Given the description of an element on the screen output the (x, y) to click on. 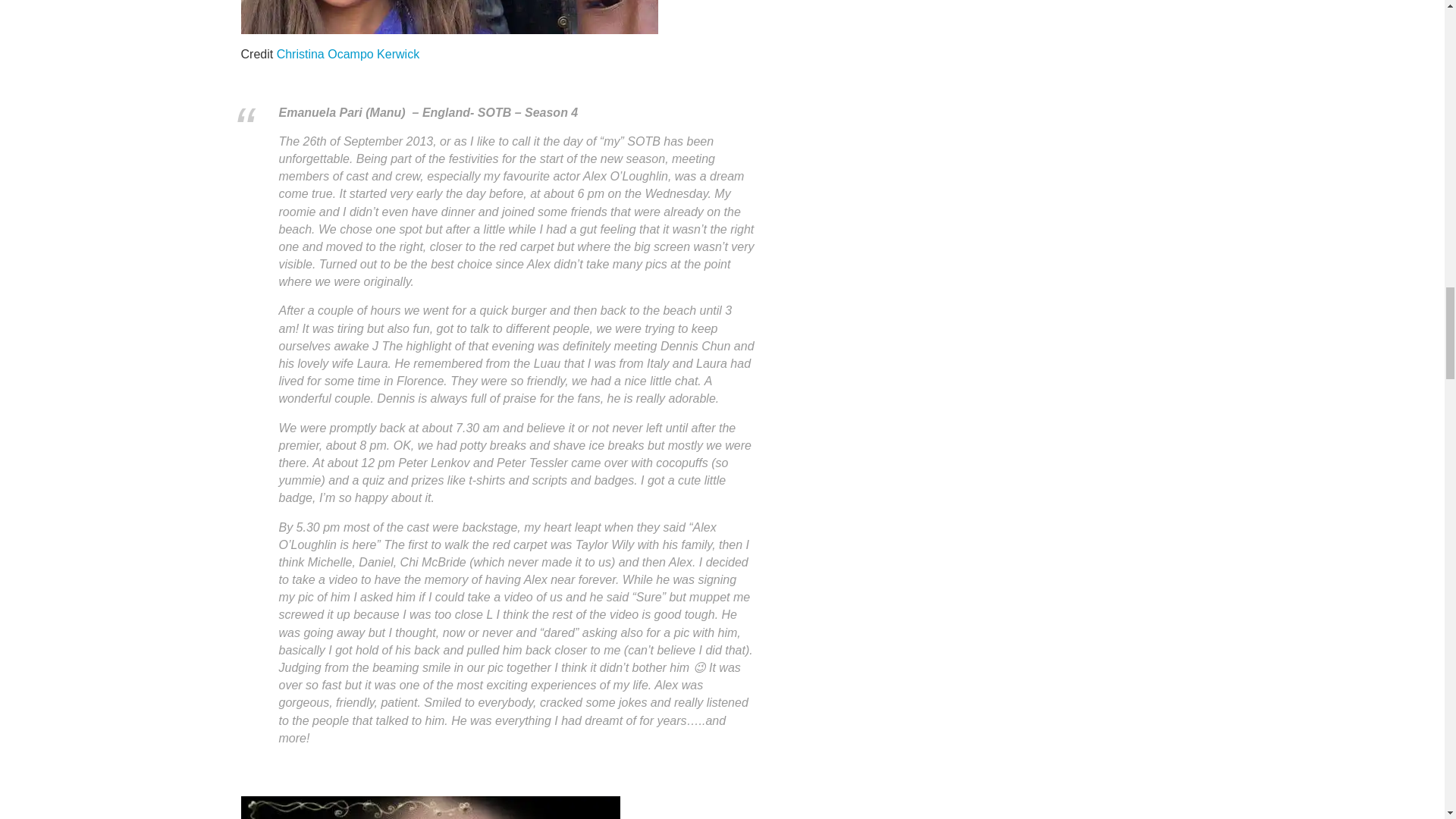
Christina Ocampo Kerwick (348, 53)
